Given the description of an element on the screen output the (x, y) to click on. 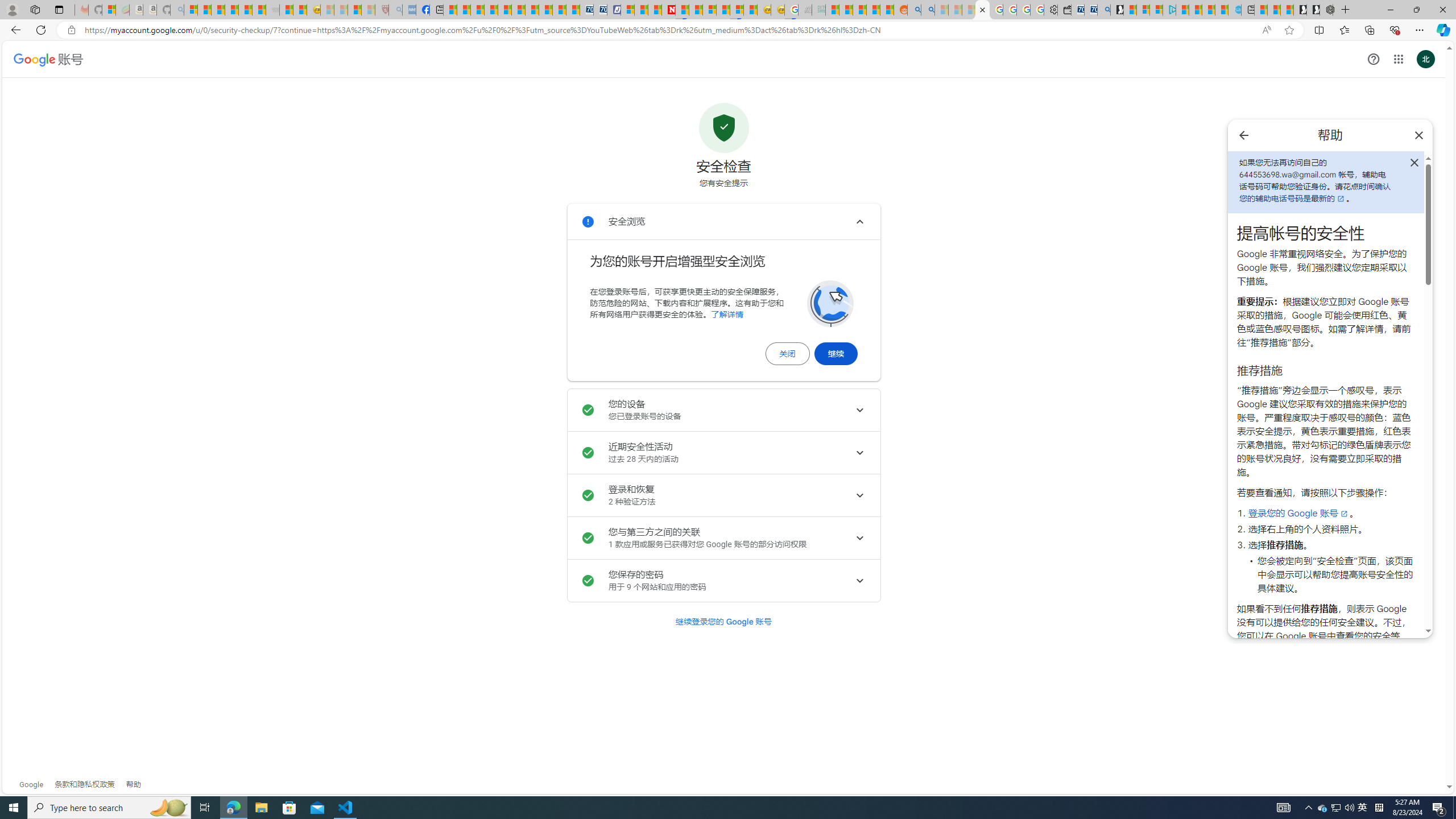
Newsweek - News, Analysis, Politics, Business, Technology (667, 9)
